Given the description of an element on the screen output the (x, y) to click on. 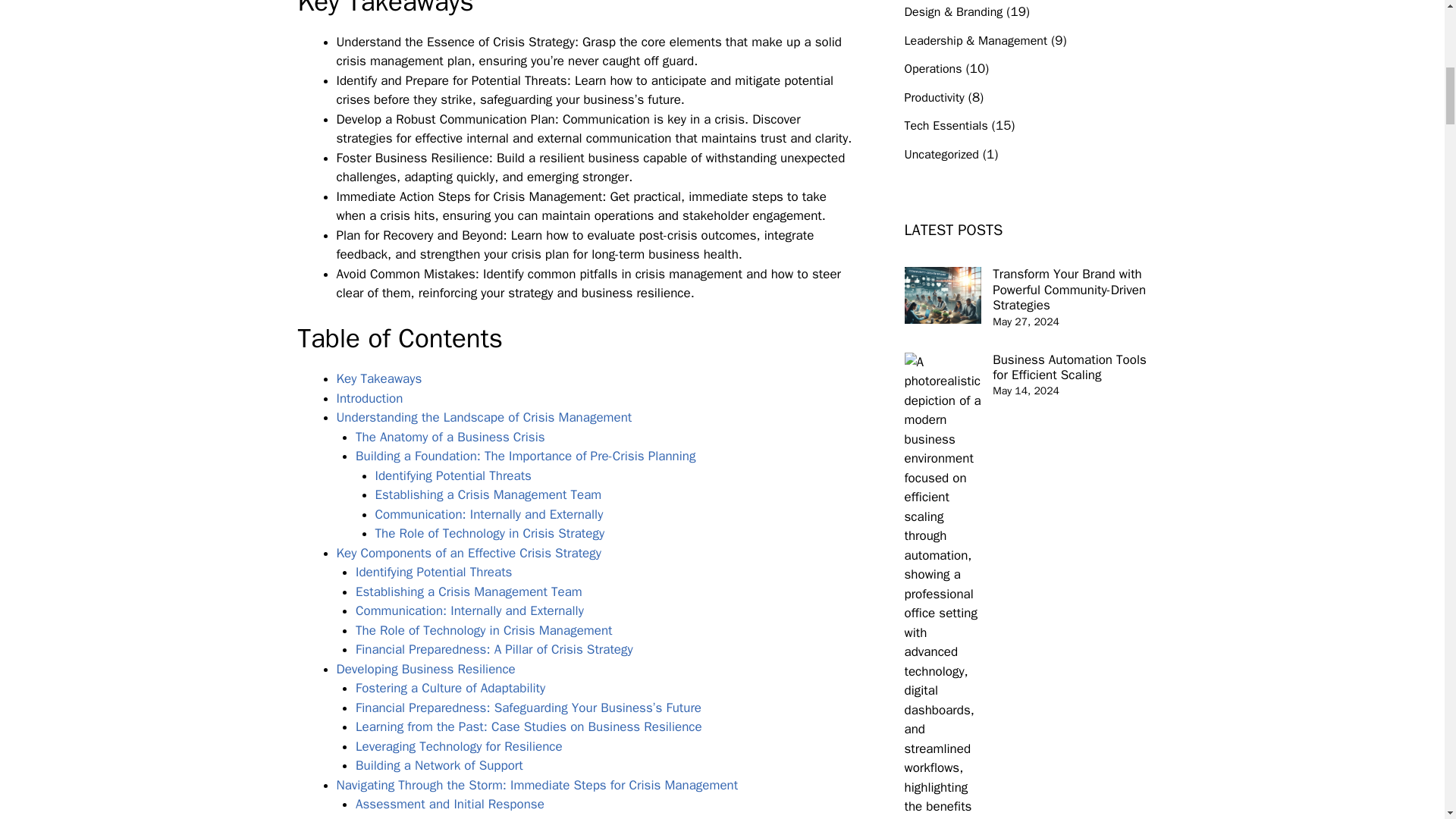
Building a Network of Support (438, 765)
Developing Business Resilience (425, 668)
Fostering a Culture of Adaptability (449, 688)
Understanding the Landscape of Crisis Management (483, 417)
Communication: Internally and Externally (469, 610)
Learning from the Past: Case Studies on Business Resilience (528, 726)
Introduction (369, 398)
The Role of Technology in Crisis Strategy (489, 533)
Key Components of an Effective Crisis Strategy (468, 553)
Financial Preparedness: A Pillar of Crisis Strategy (494, 649)
